Given the description of an element on the screen output the (x, y) to click on. 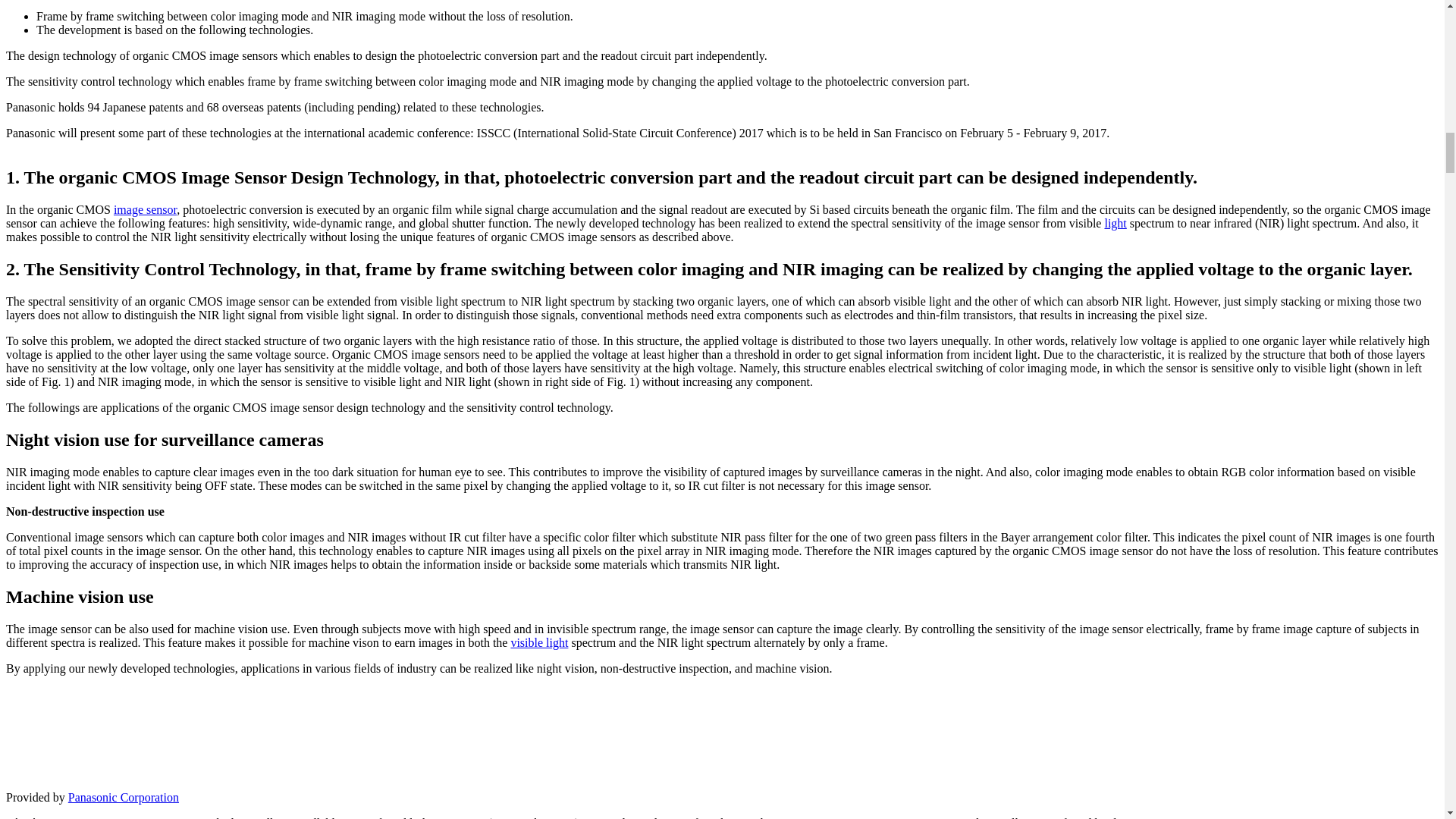
image sensor (144, 209)
visible light (539, 642)
light (1114, 223)
Panasonic Corporation (123, 797)
